Given the description of an element on the screen output the (x, y) to click on. 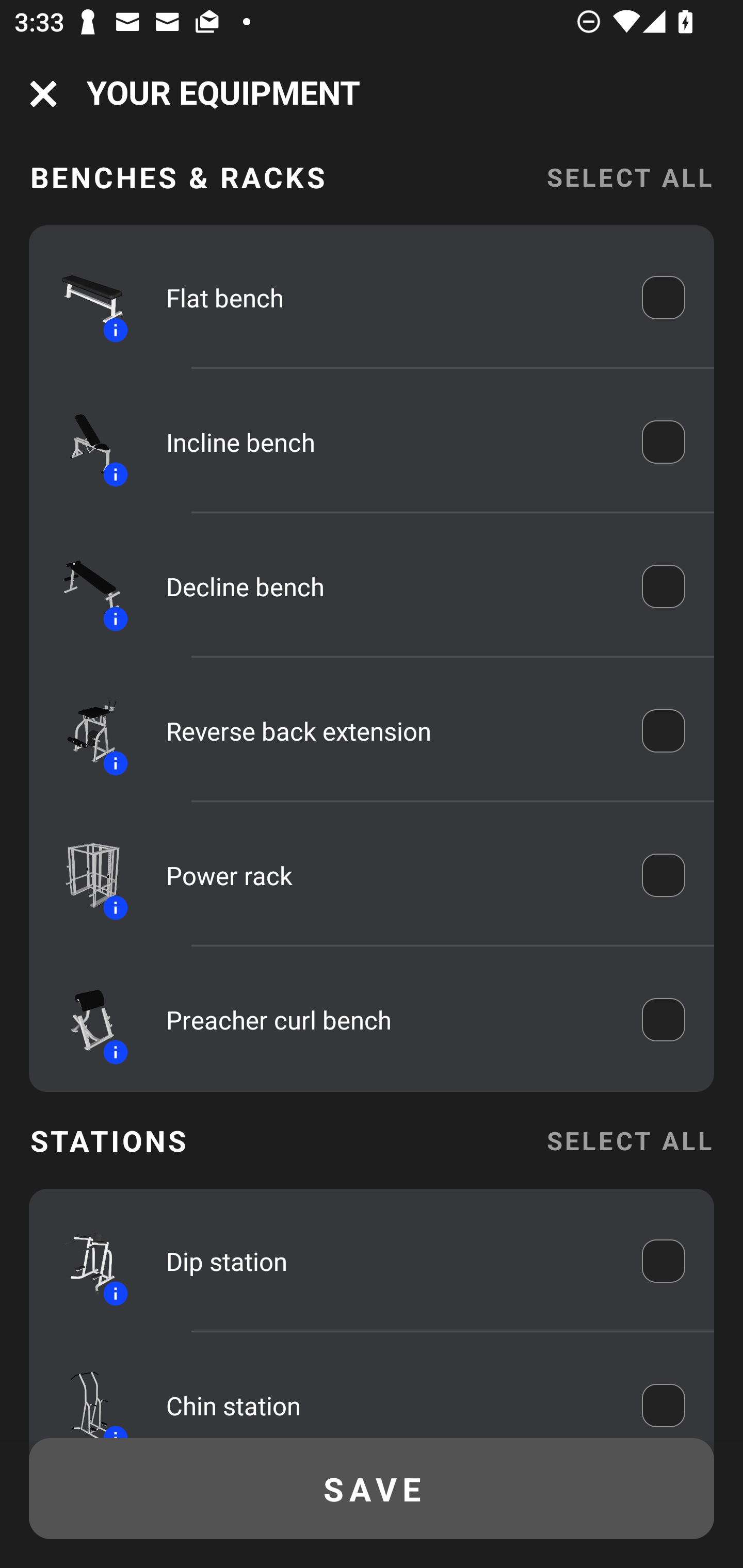
Navigation icon (43, 93)
SELECT ALL (629, 181)
Equipment icon Information icon (82, 297)
Flat bench (389, 297)
Equipment icon Information icon (82, 441)
Incline bench (389, 442)
Equipment icon Information icon (82, 586)
Decline bench (389, 586)
Equipment icon Information icon (82, 731)
Reverse back extension (389, 730)
Equipment icon Information icon (82, 875)
Power rack (389, 875)
Equipment icon Information icon (82, 1019)
Preacher curl bench (389, 1019)
SELECT ALL (629, 1140)
Equipment icon Information icon (82, 1261)
Dip station (389, 1261)
Equipment icon Information icon (82, 1394)
Chin station (389, 1399)
SAVE (371, 1488)
